Given the description of an element on the screen output the (x, y) to click on. 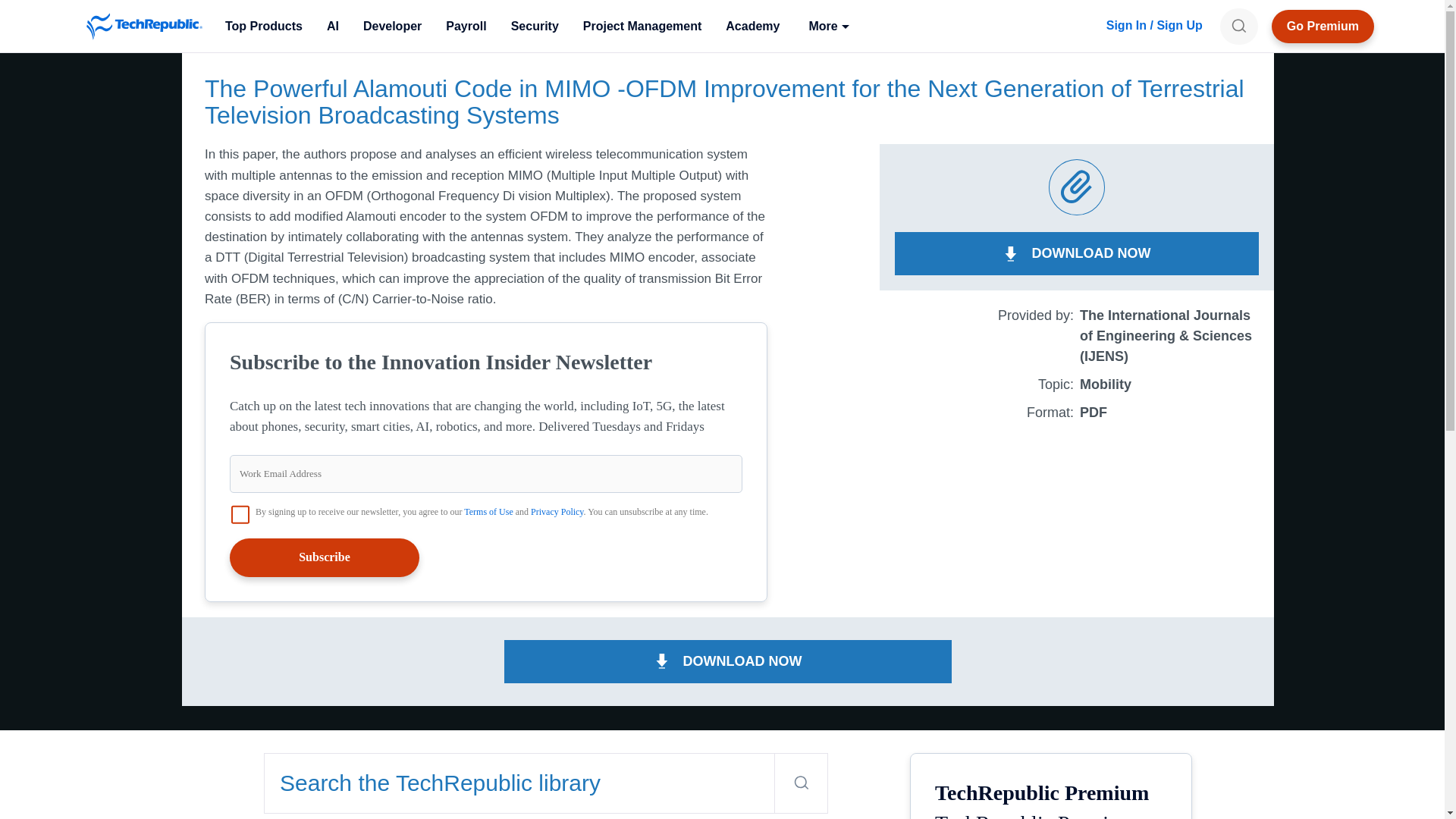
TechRepublic (143, 25)
Security (534, 26)
TechRepublic (143, 25)
on (239, 515)
DOWNLOAD NOW (727, 661)
Academy (752, 26)
TechRepublic (143, 25)
DOWNLOAD NOW (1077, 253)
Payroll (465, 26)
Top Products (263, 26)
